Given the description of an element on the screen output the (x, y) to click on. 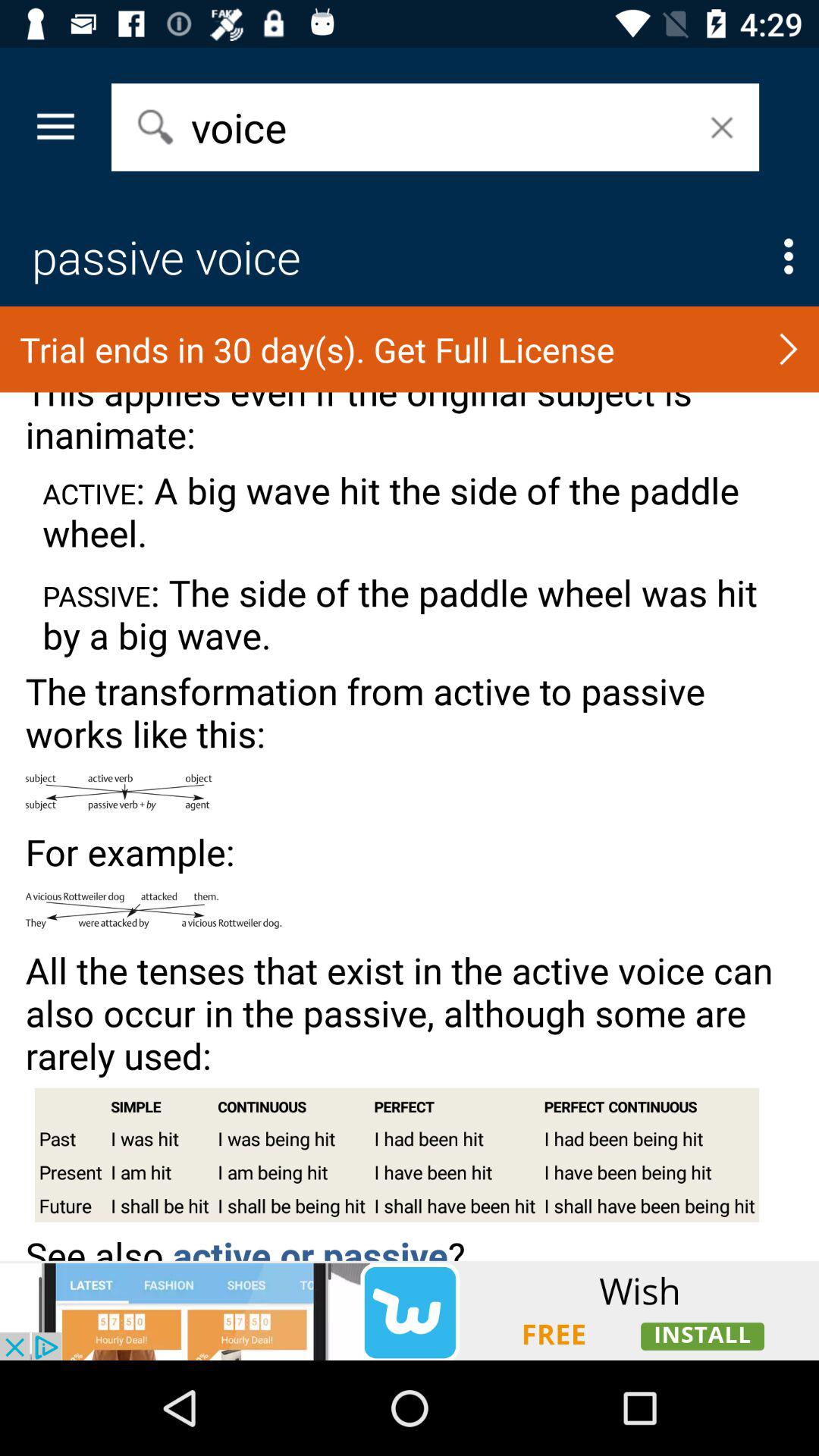
go to customize (788, 256)
